Given the description of an element on the screen output the (x, y) to click on. 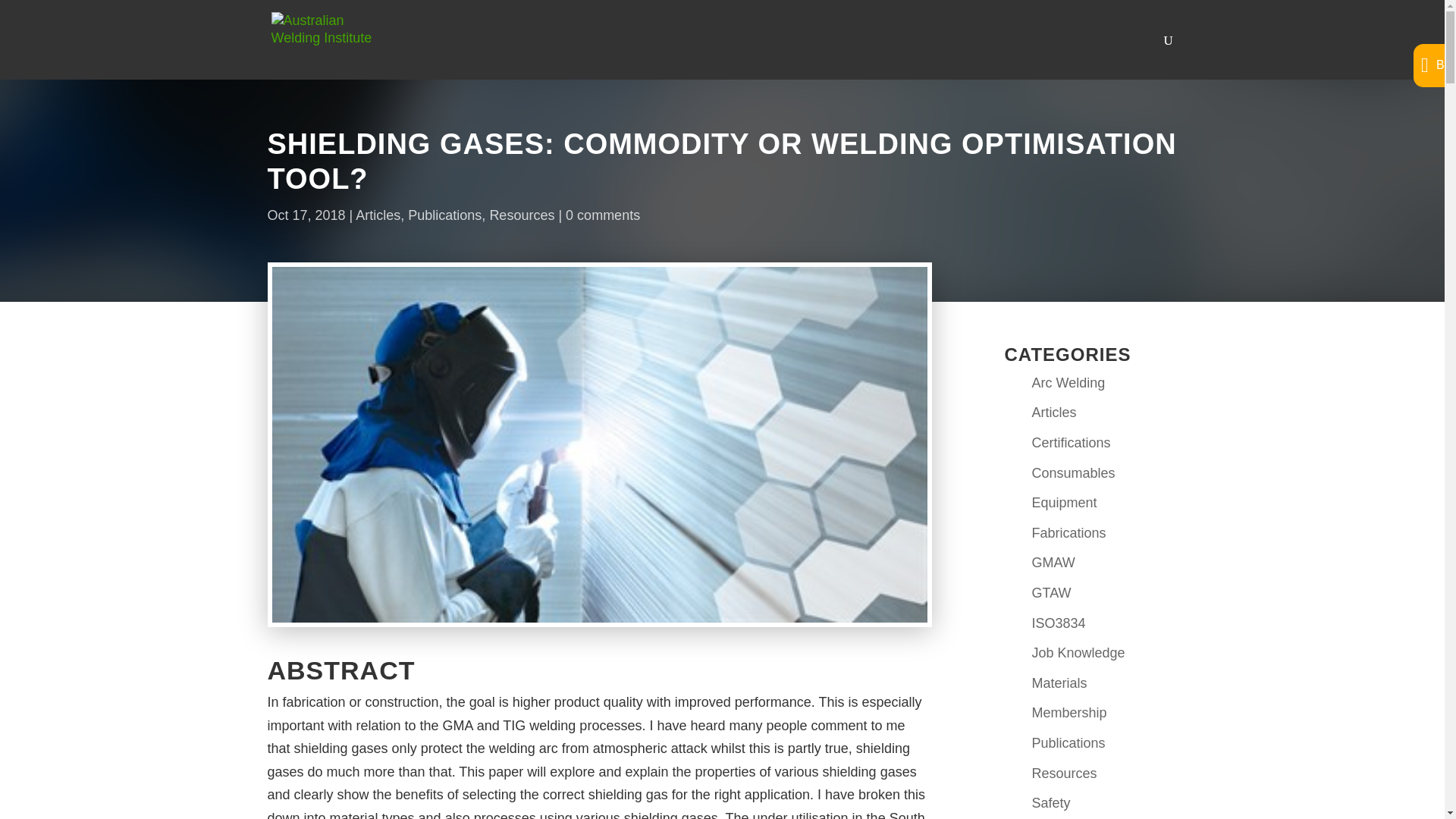
Login (1059, 257)
